Given the description of an element on the screen output the (x, y) to click on. 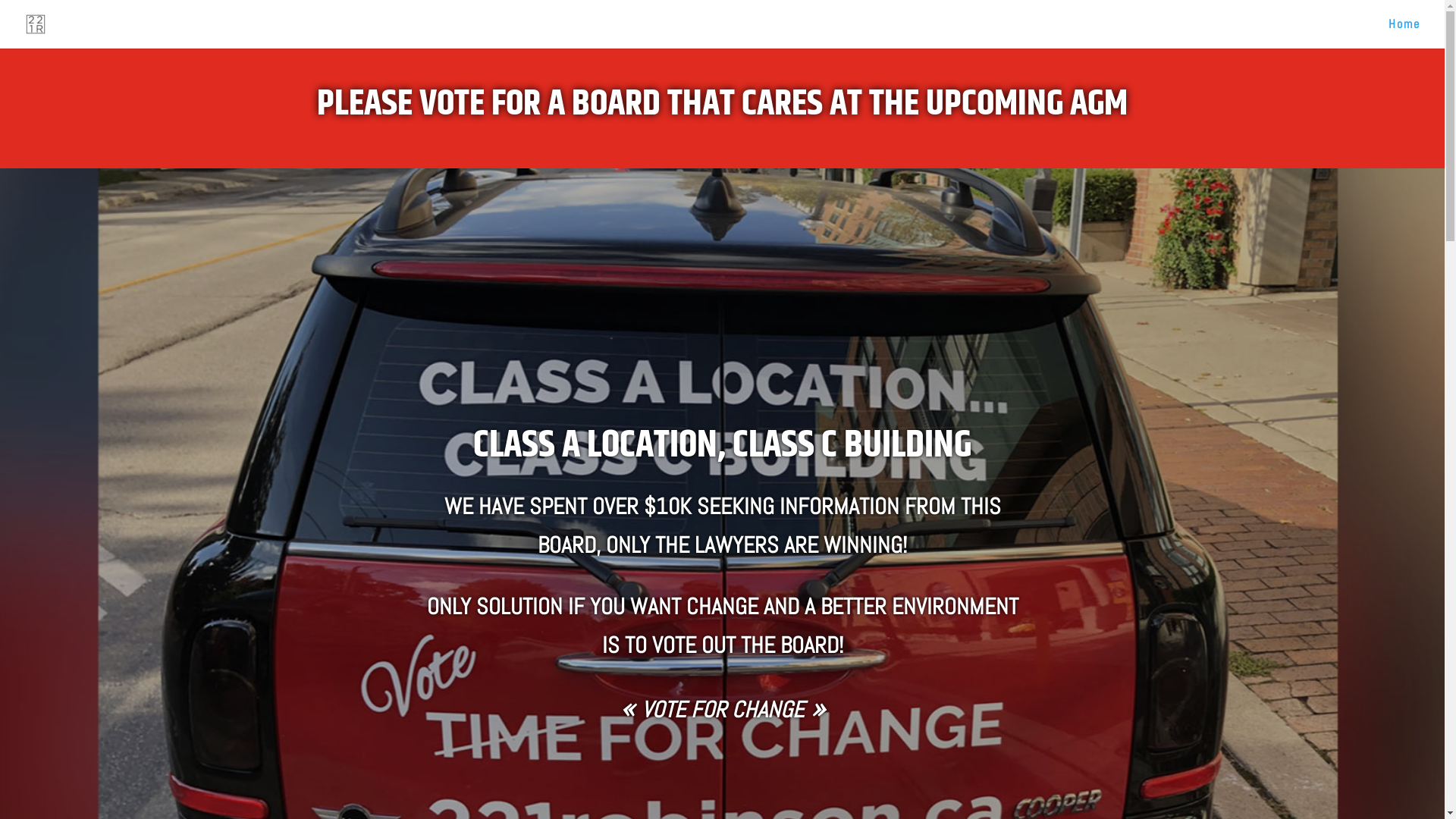
Home Element type: text (1404, 33)
